Given the description of an element on the screen output the (x, y) to click on. 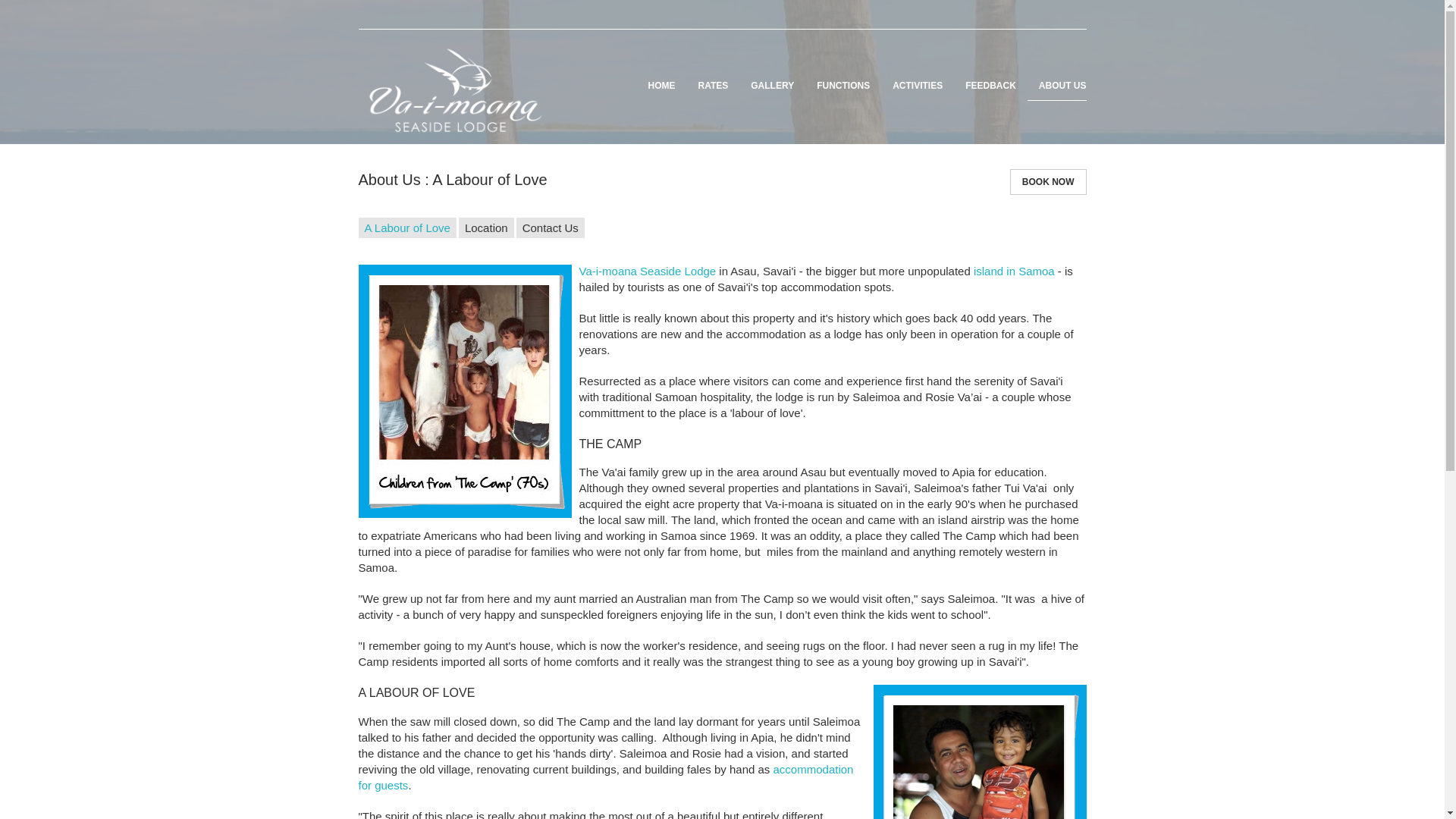
Va-i-moana Seaside Lodge (647, 270)
A Labour of Love (406, 227)
RATES (712, 85)
FEEDBACK (990, 85)
accommodation for guests (605, 776)
Va-i-moana Seaside Lodge - Logo Full (454, 89)
Contact Us (550, 227)
ABOUT US (1056, 85)
HOME (660, 85)
ACTIVITIES (916, 85)
